Given the description of an element on the screen output the (x, y) to click on. 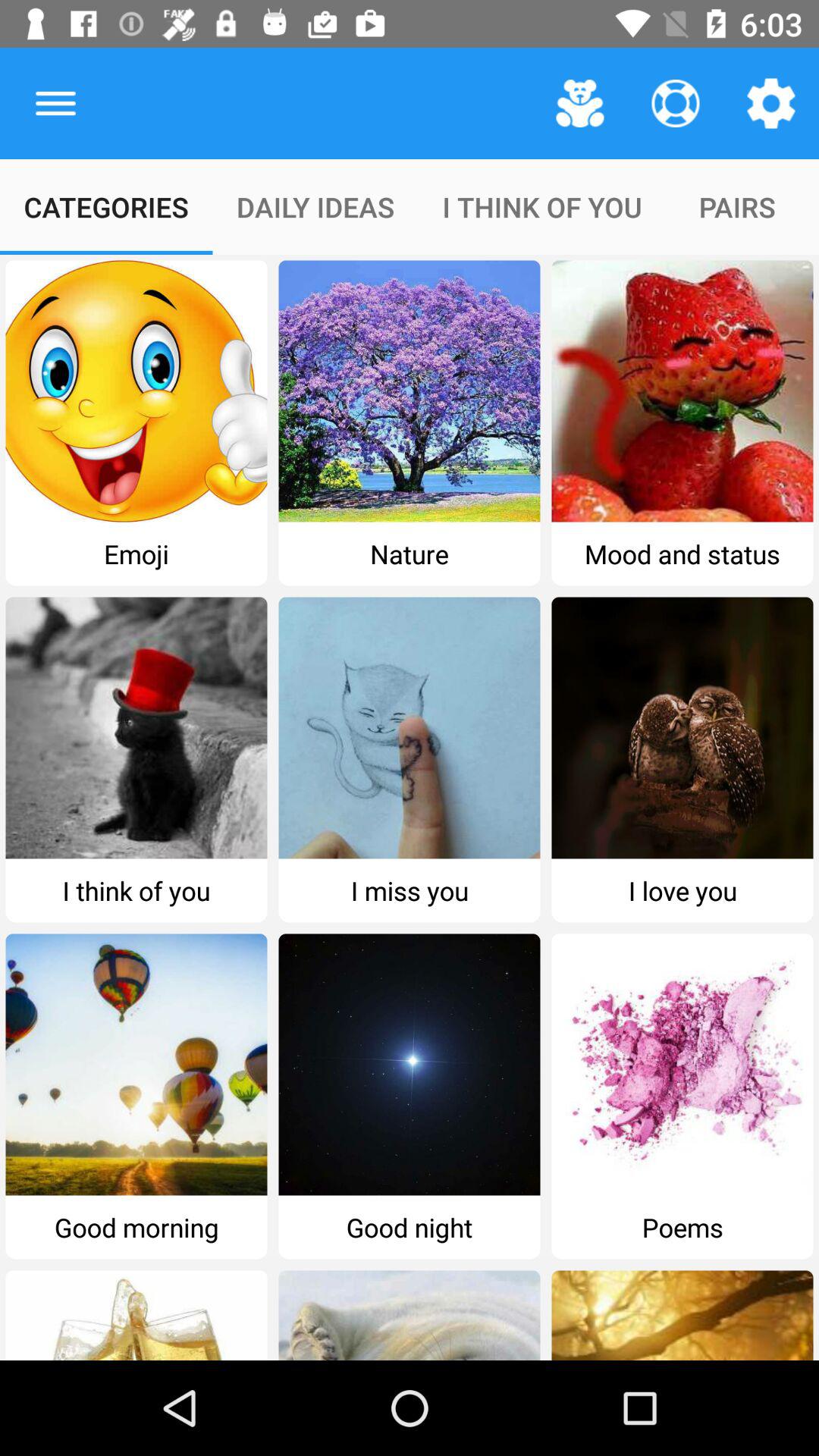
launch the icon above the pairs (771, 103)
